Given the description of an element on the screen output the (x, y) to click on. 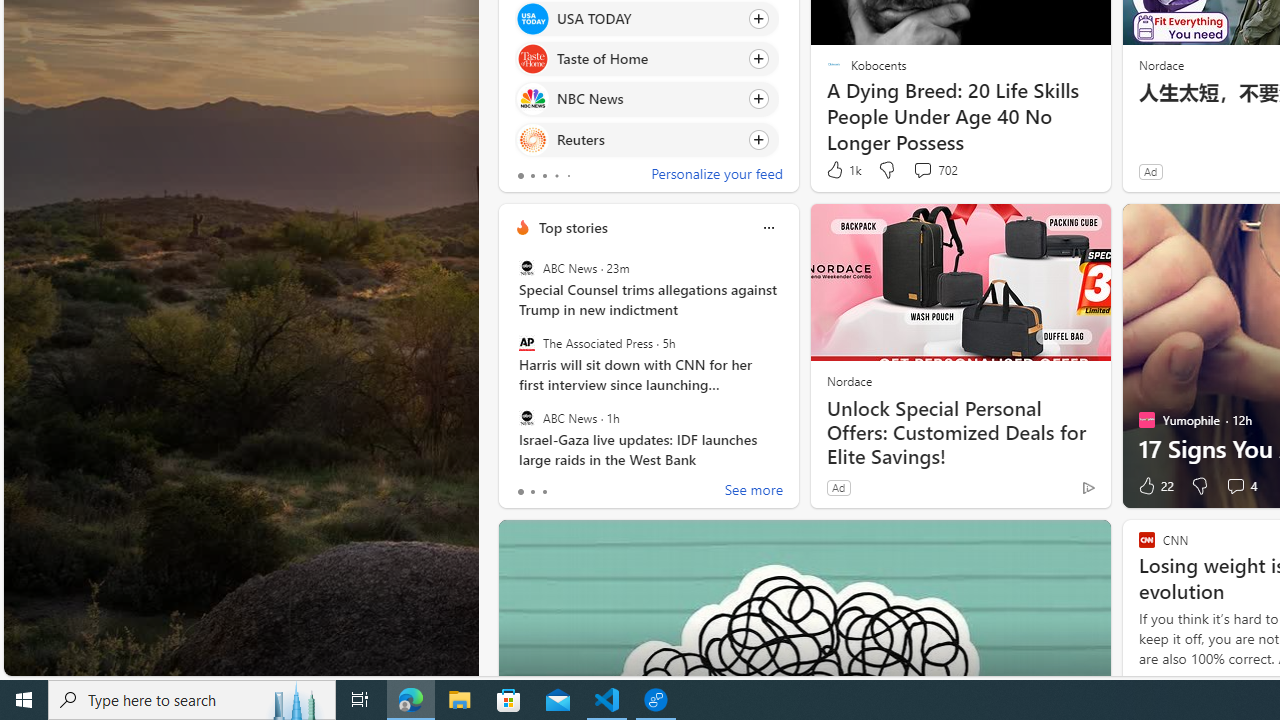
Click to follow source Taste of Home (646, 59)
Taste of Home (532, 59)
22 Like (1154, 485)
View comments 702 Comment (934, 170)
NBC News (532, 98)
View comments 4 Comment (1234, 485)
Top stories (572, 227)
USA TODAY (532, 18)
